Given the description of an element on the screen output the (x, y) to click on. 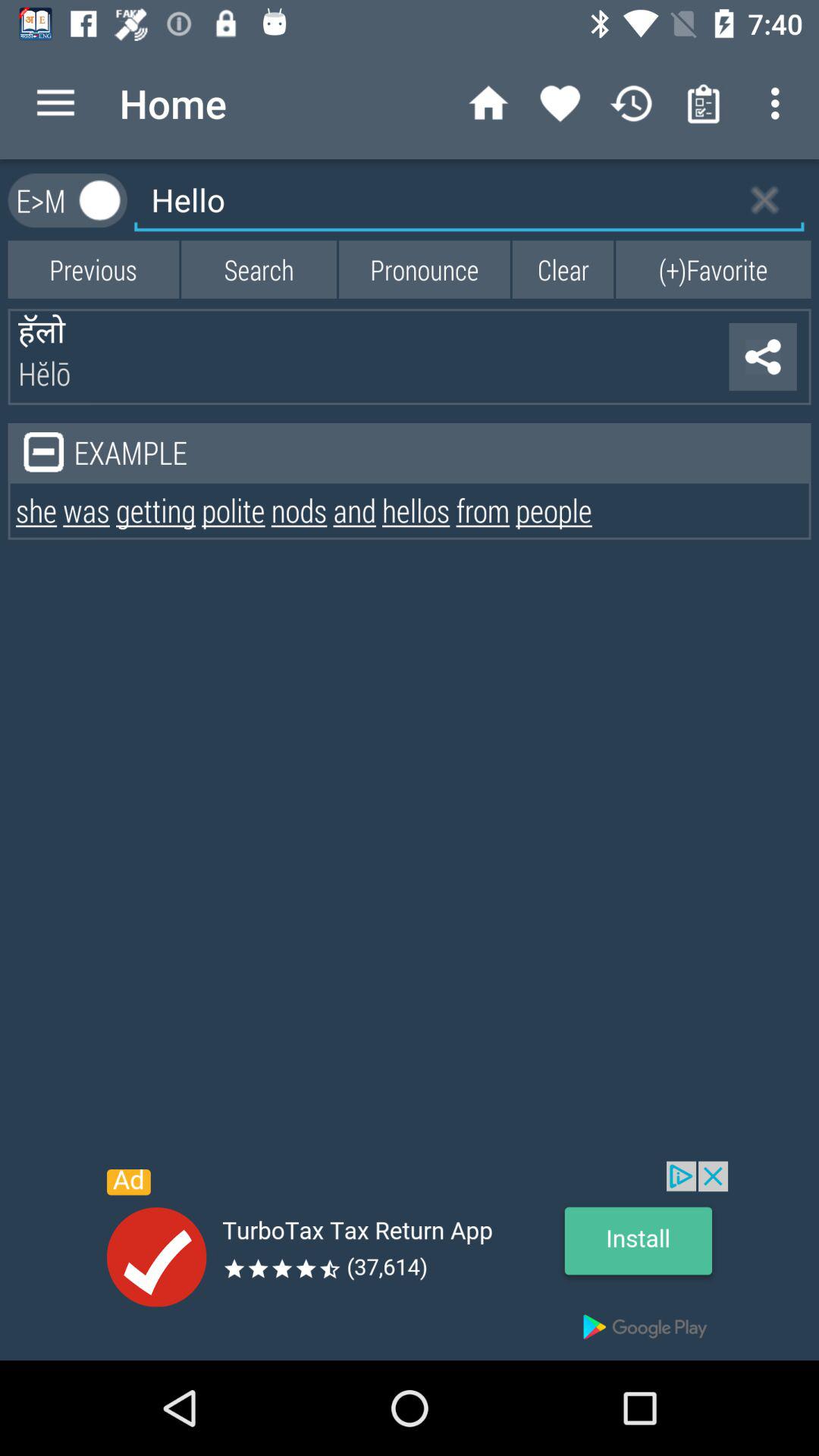
go to advertisement (409, 1260)
